Given the description of an element on the screen output the (x, y) to click on. 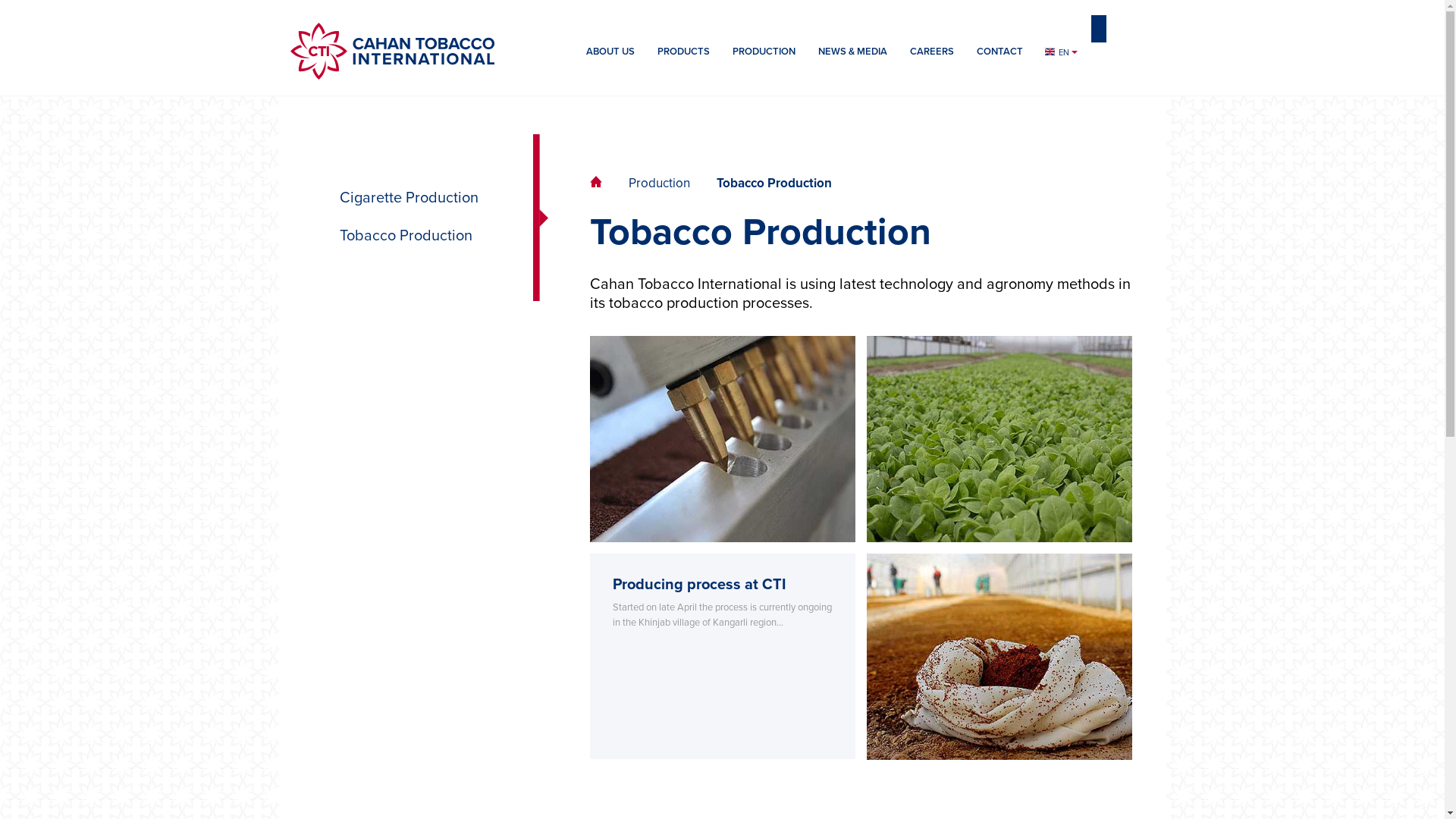
ABOUT US Element type: text (610, 58)
PRODUCTION Element type: text (763, 58)
Cigarette Production Element type: text (417, 198)
CAREERS Element type: text (930, 55)
NEWS & MEDIA Element type: text (852, 55)
PRODUCTS Element type: text (683, 58)
CONTACT Element type: text (998, 58)
Tobacco Production Element type: text (417, 236)
EN Element type: text (1060, 52)
